Given the description of an element on the screen output the (x, y) to click on. 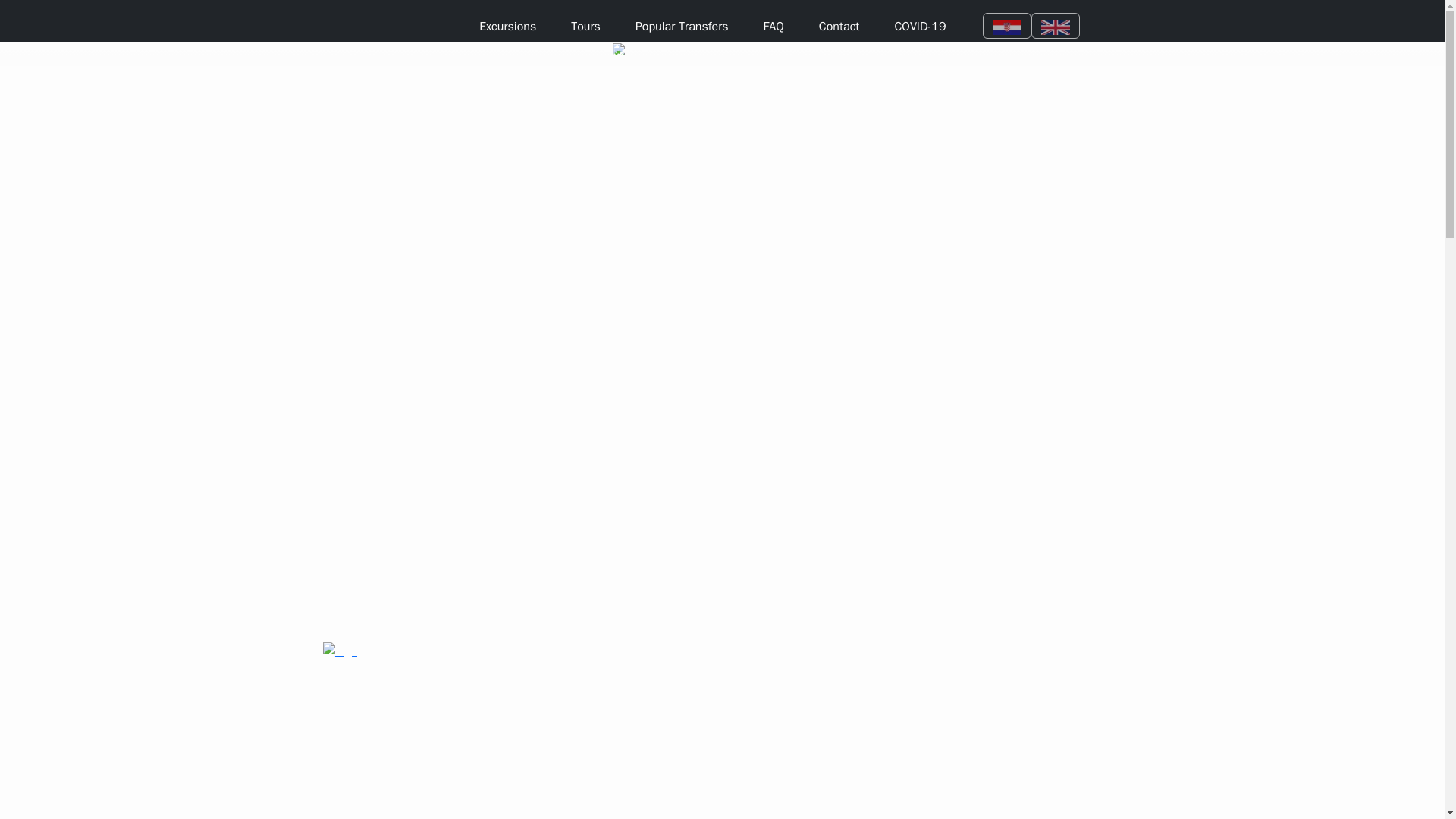
Excursions (507, 26)
Maci-tours (397, 24)
Tours (585, 26)
FAQ (773, 26)
Popular Transfers (681, 26)
COVID-19 (920, 26)
Contact (839, 26)
